Given the description of an element on the screen output the (x, y) to click on. 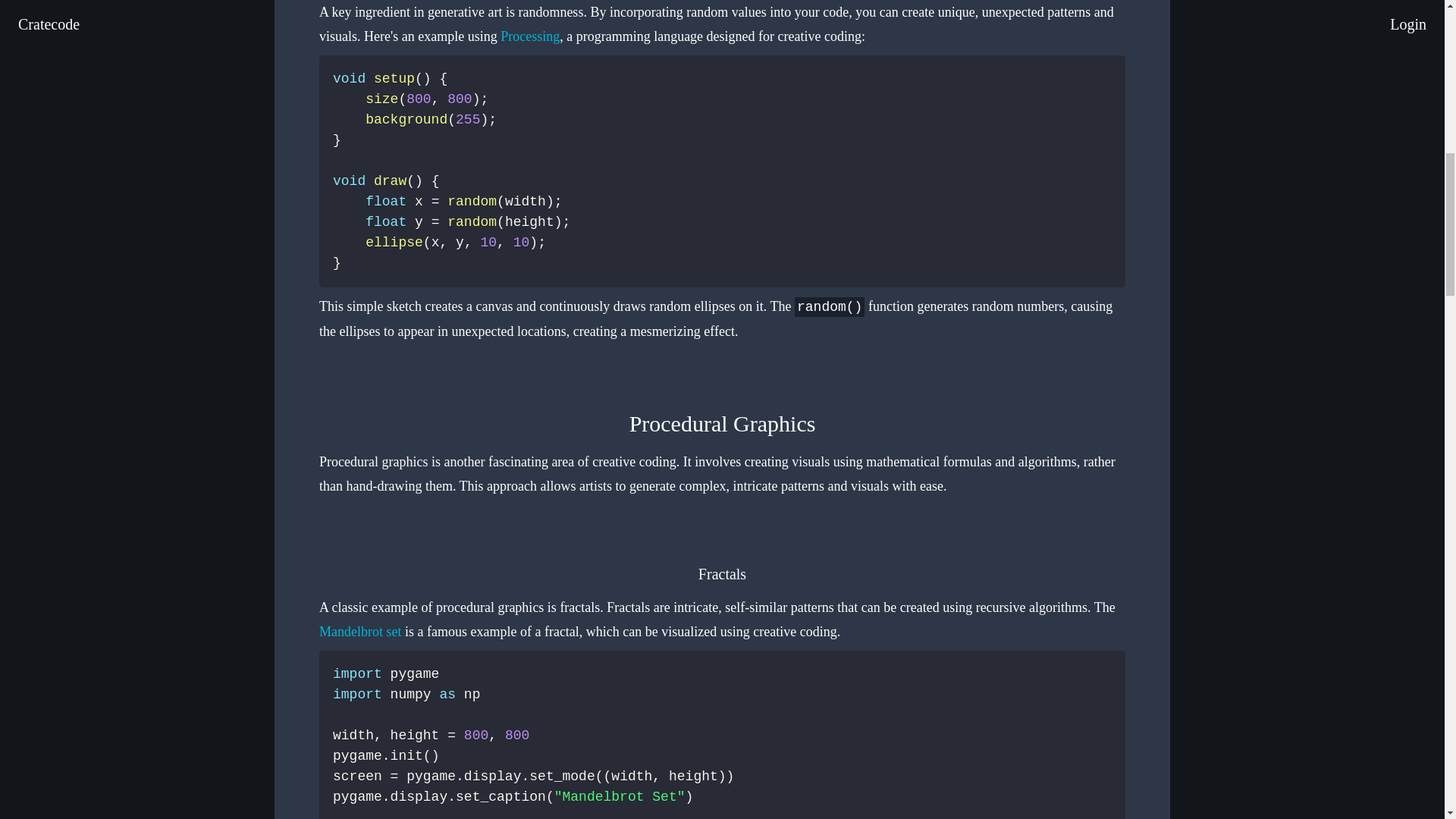
Processing (529, 36)
Mandelbrot set (359, 631)
